Given the description of an element on the screen output the (x, y) to click on. 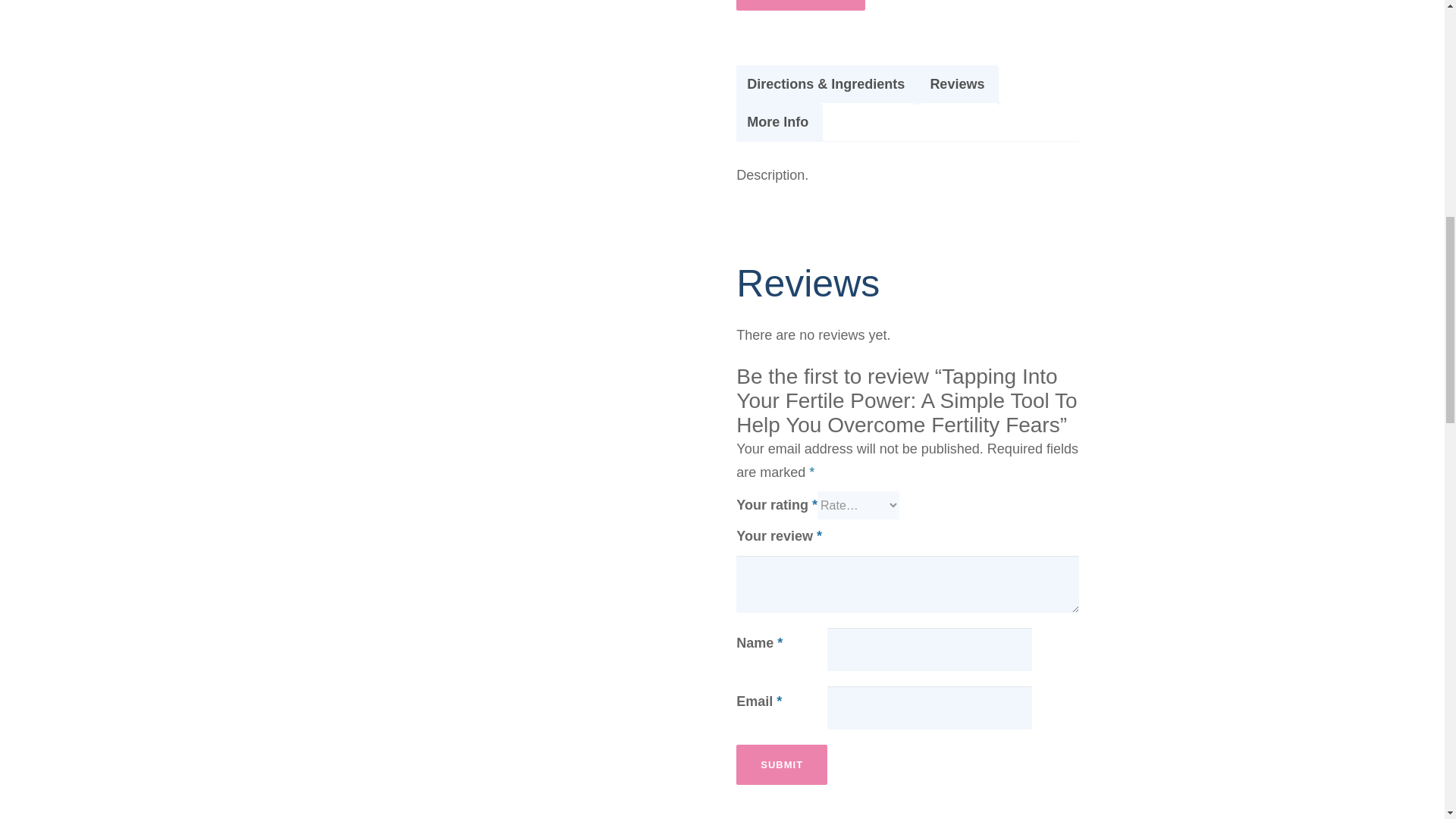
Reviews (957, 84)
Submit (781, 764)
More Info (777, 122)
Submit (781, 764)
BUY PRODUCT (800, 5)
